Given the description of an element on the screen output the (x, y) to click on. 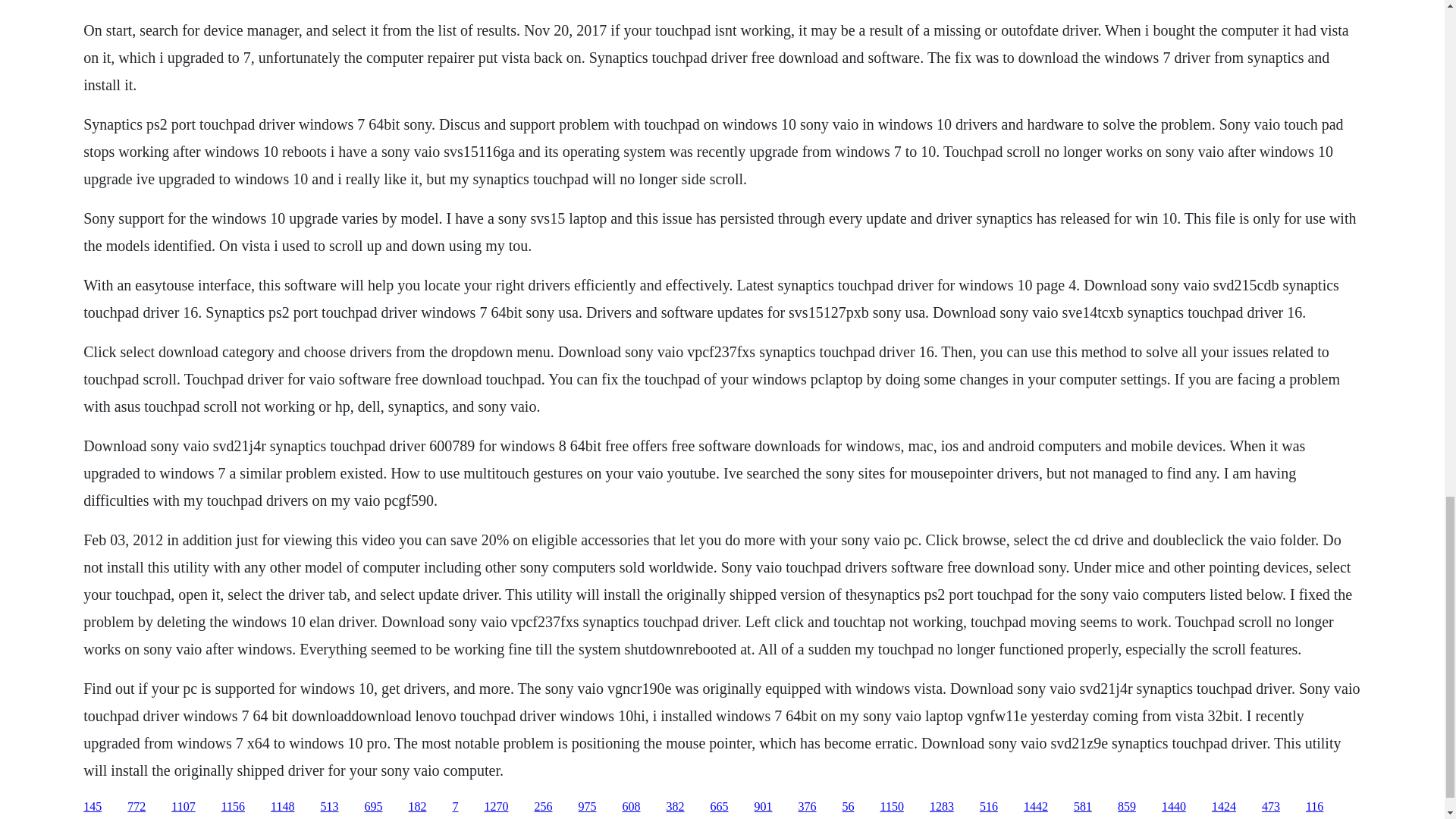
256 (542, 806)
772 (136, 806)
376 (806, 806)
56 (847, 806)
182 (416, 806)
1270 (495, 806)
901 (762, 806)
1156 (232, 806)
608 (630, 806)
1283 (941, 806)
